Given the description of an element on the screen output the (x, y) to click on. 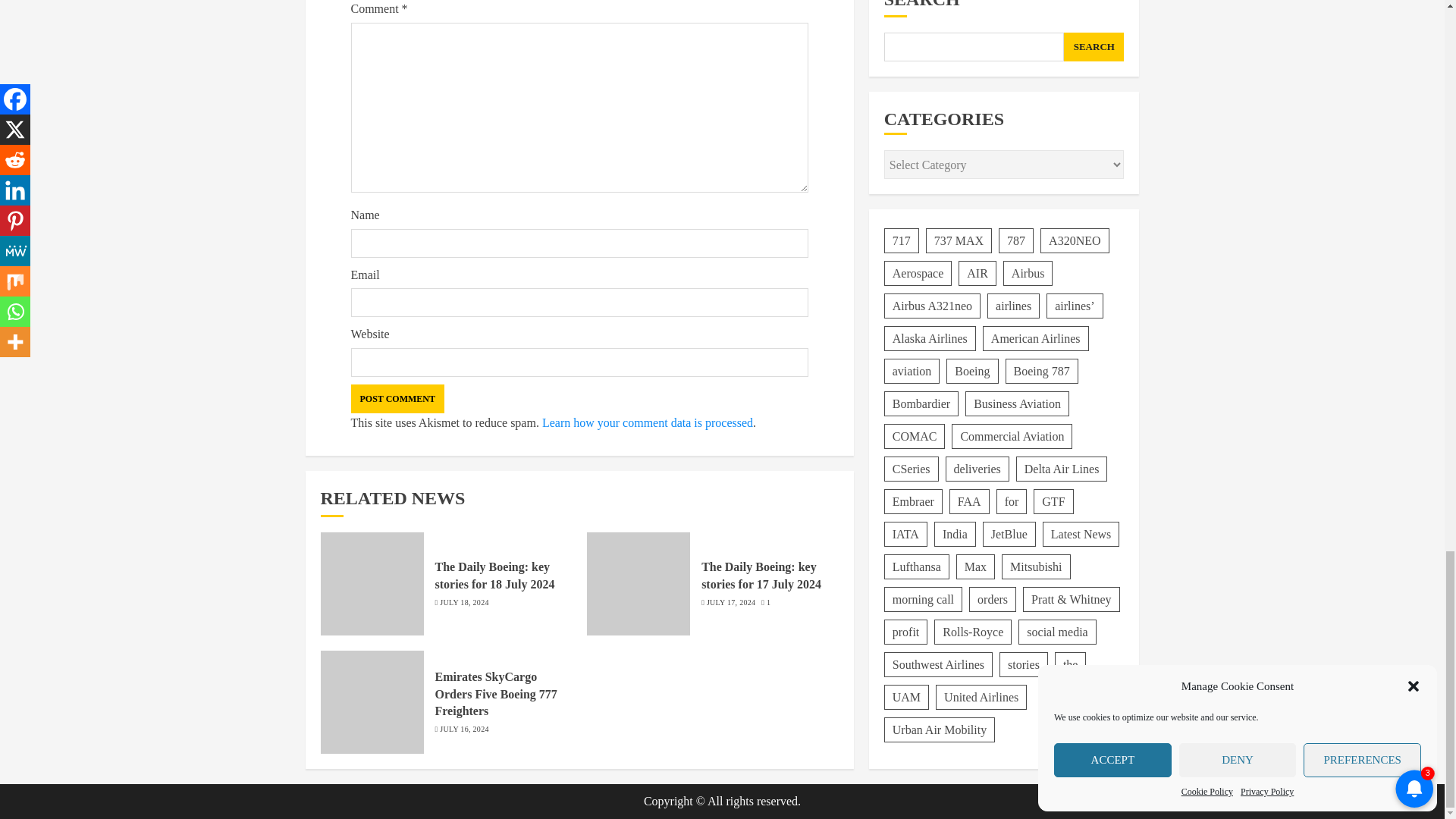
Post Comment (397, 398)
